Given the description of an element on the screen output the (x, y) to click on. 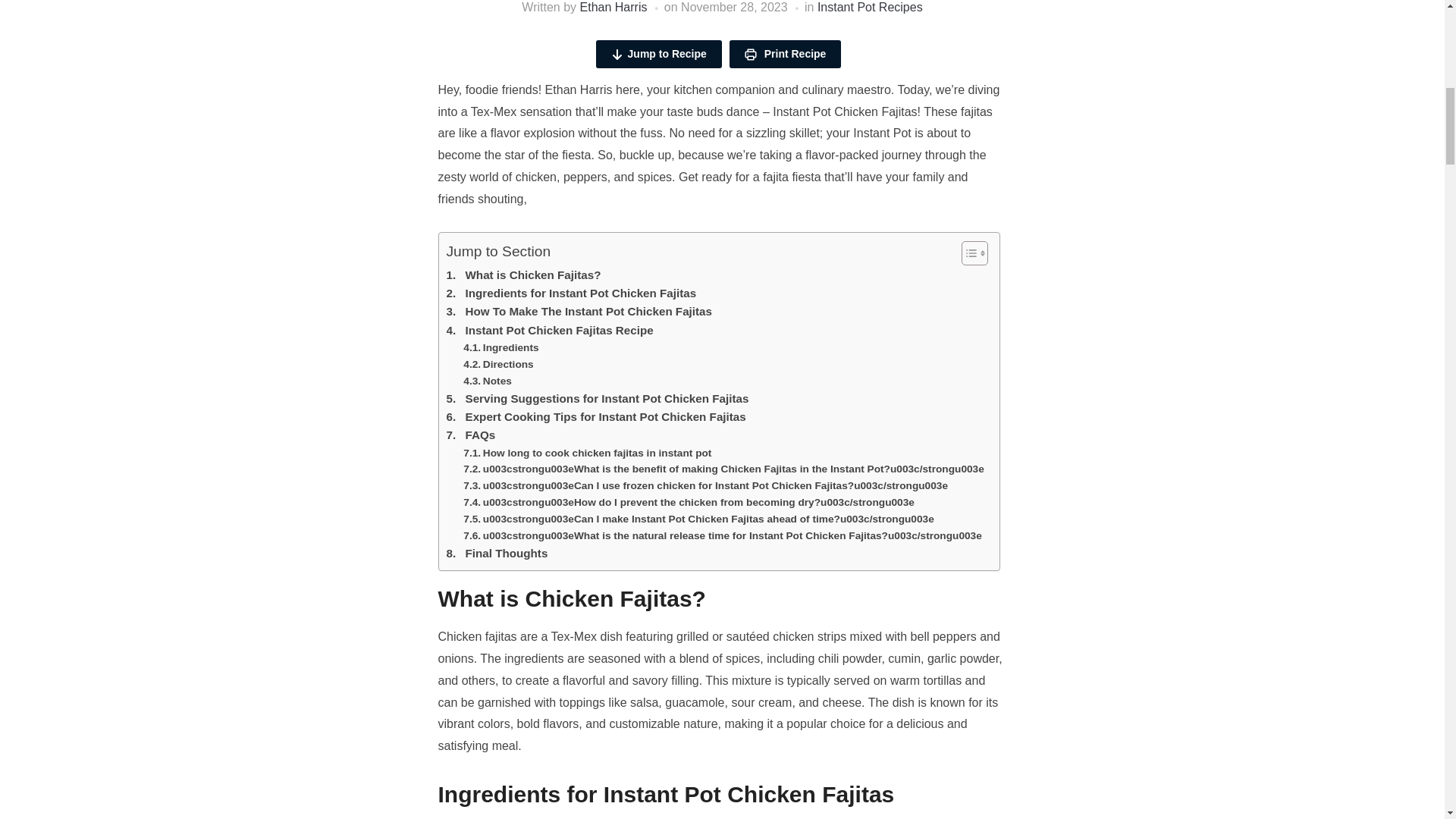
Posts by Ethan Harris (613, 6)
Ethan Harris (613, 6)
Ingredients (500, 347)
What is Chicken Fajitas? (522, 275)
Serving Suggestions for Instant Pot Chicken Fajitas (596, 398)
How To Make The Instant Pot Chicken Fajitas (578, 311)
Ingredients (500, 347)
Instant Pot Chicken Fajitas Recipe (548, 330)
Jump to Recipe (658, 53)
How To Make The Instant Pot Chicken Fajitas (578, 311)
How long to cook chicken fajitas in instant pot (587, 452)
What is Chicken Fajitas? (522, 275)
Instant Pot Chicken Fajitas Recipe (548, 330)
Ingredients for Instant Pot Chicken Fajitas (570, 293)
Directions (497, 364)
